Given the description of an element on the screen output the (x, y) to click on. 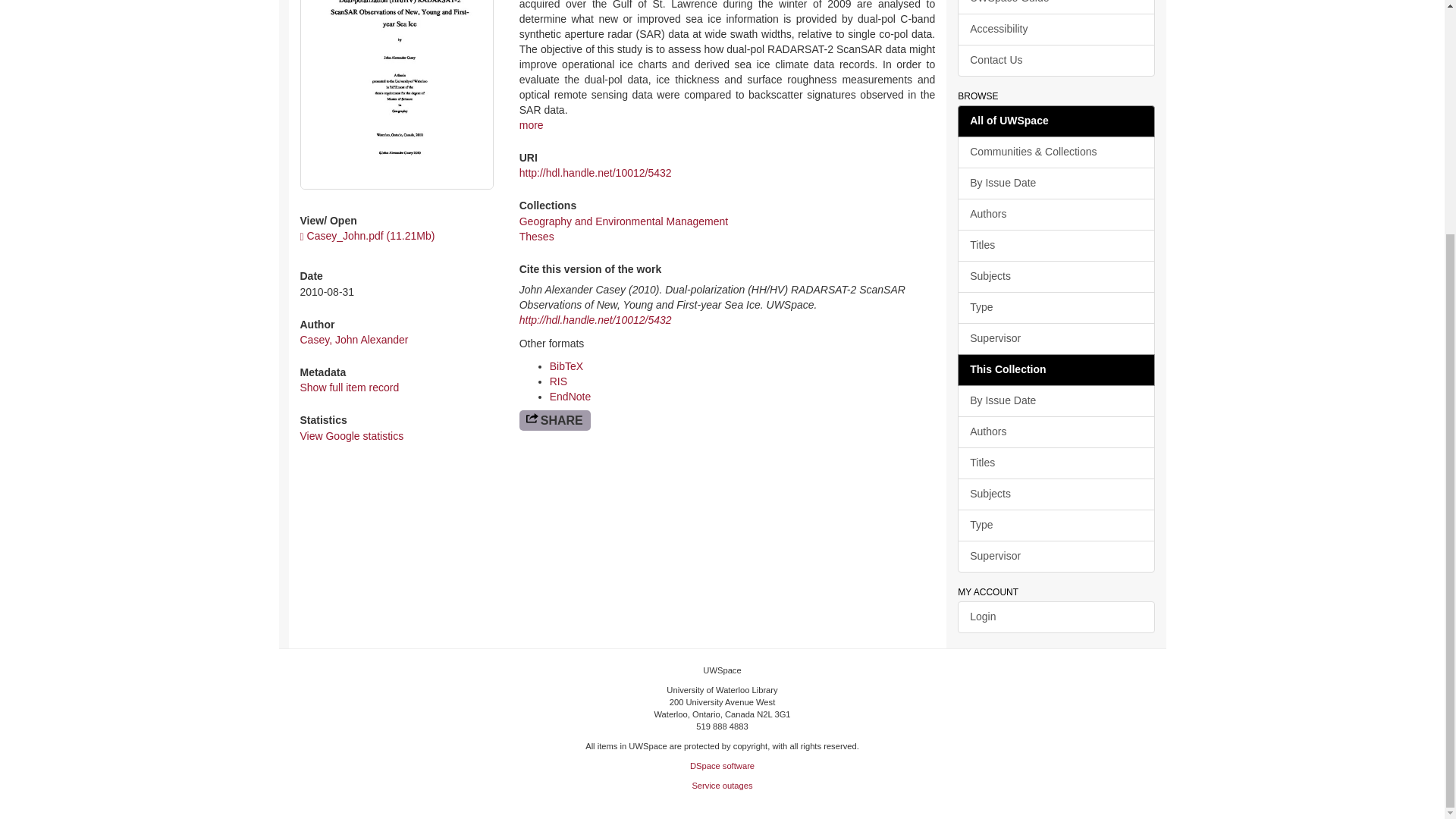
Show full item record (348, 387)
Accessibility (1056, 29)
Casey, John Alexander (354, 339)
Geography and Environmental Management (624, 221)
EndNote (570, 396)
View Google statistics (351, 435)
more (531, 124)
UWSpace Guide (1056, 7)
Contact Us (1056, 60)
BibTeX (566, 366)
RIS (558, 381)
Theses (536, 236)
